Given the description of an element on the screen output the (x, y) to click on. 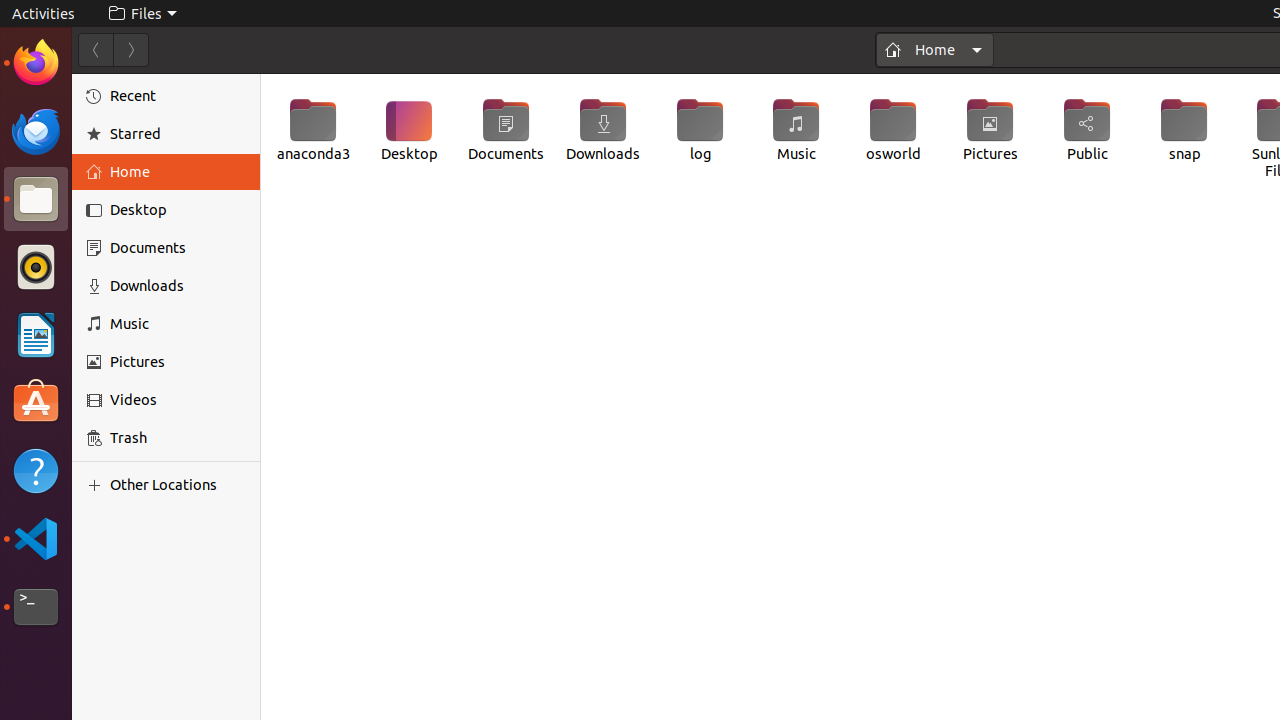
Trash Element type: label (133, 191)
Home Element type: push-button (935, 50)
Desktop Element type: label (178, 210)
Documents Element type: label (178, 247)
